Given the description of an element on the screen output the (x, y) to click on. 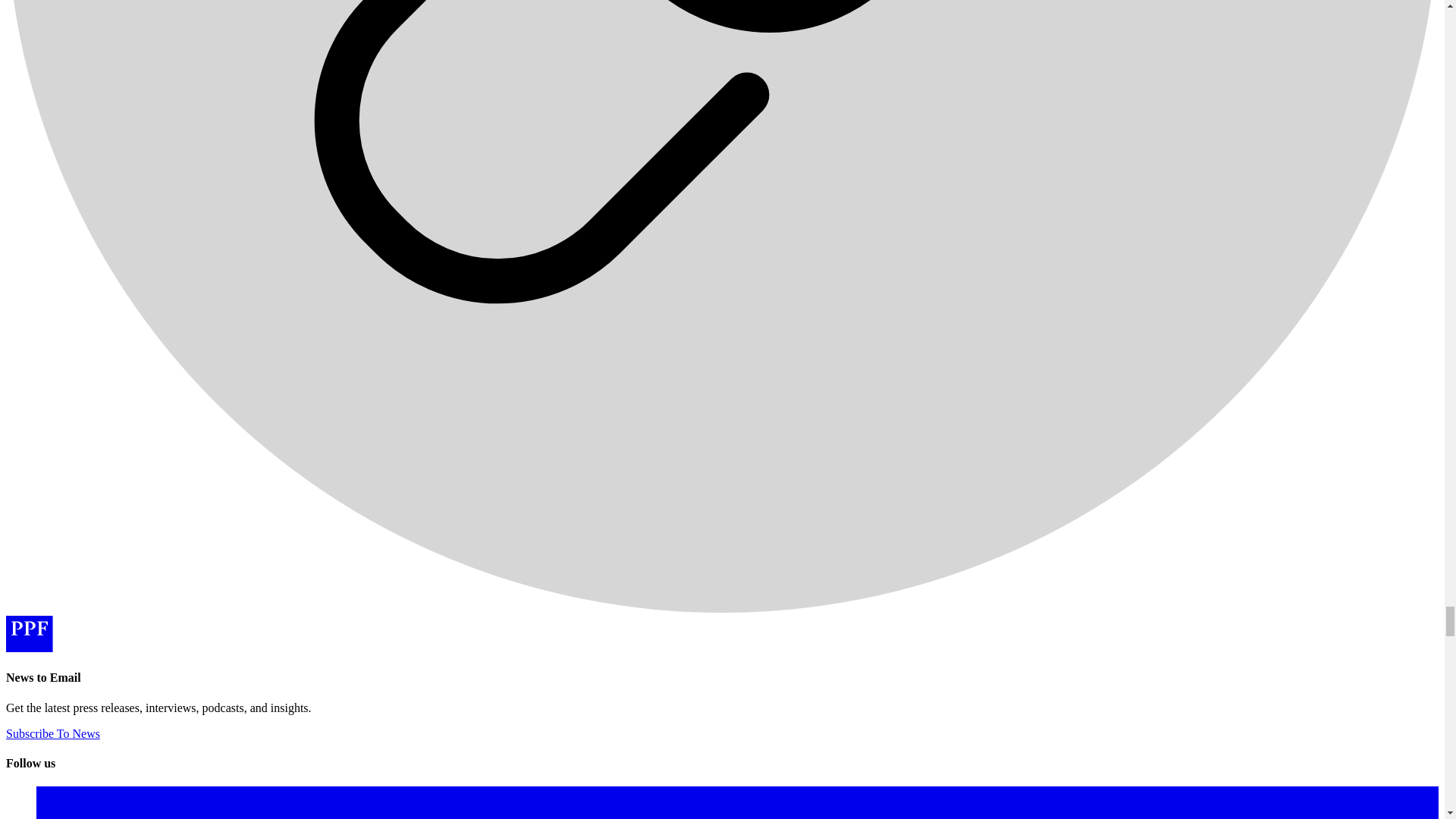
Subscribe To News (52, 733)
Home (28, 647)
Subscribe To News (52, 733)
